Given the description of an element on the screen output the (x, y) to click on. 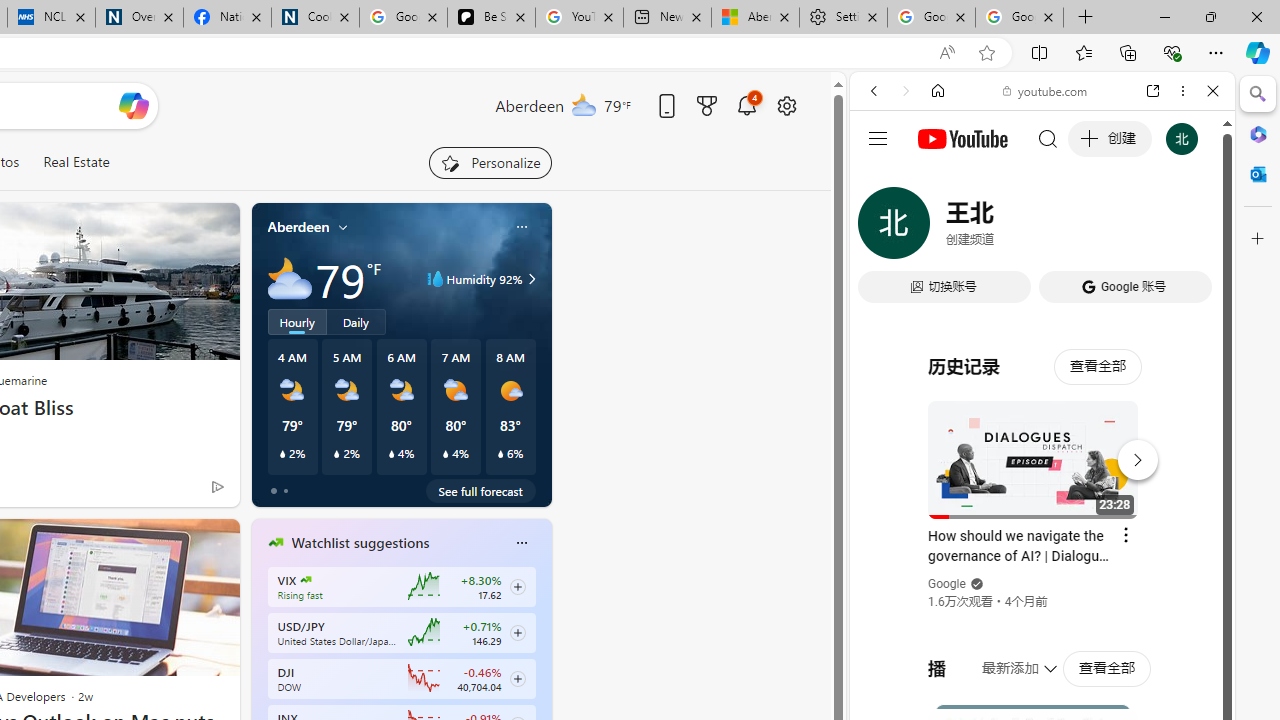
youtube.com (1046, 90)
Class: weather-current-precipitation-glyph (500, 453)
